Given the description of an element on the screen output the (x, y) to click on. 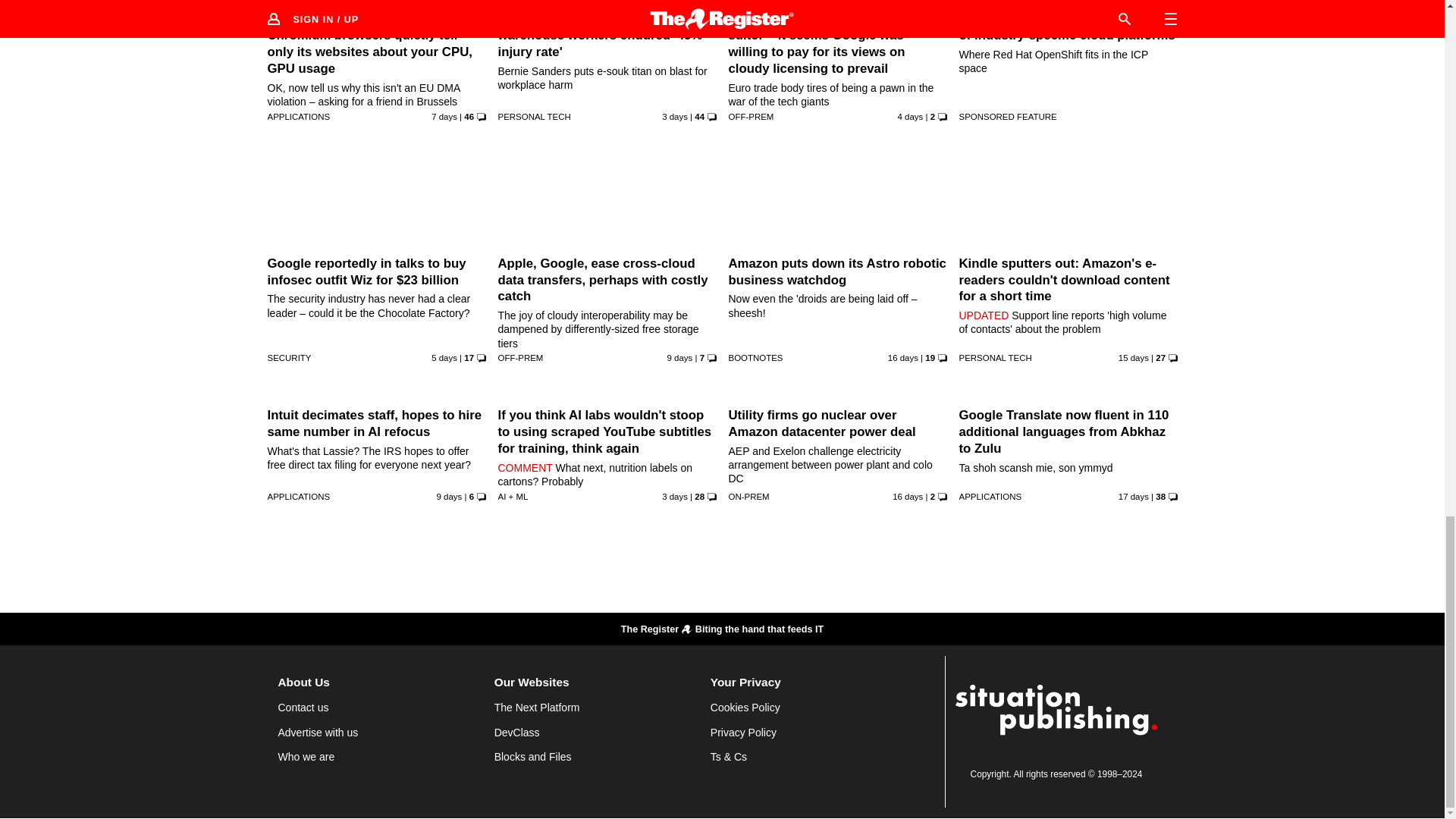
16 Jul 2024 4:1 (910, 116)
11 Jul 2024 4:34 (679, 357)
3 Jul 2024 21:44 (903, 357)
15 Jul 2024 4:39 (443, 357)
5 Jul 2024 2:35 (1133, 357)
16 Jul 2024 21:34 (674, 116)
12 Jul 2024 10:28 (443, 116)
